Given the description of an element on the screen output the (x, y) to click on. 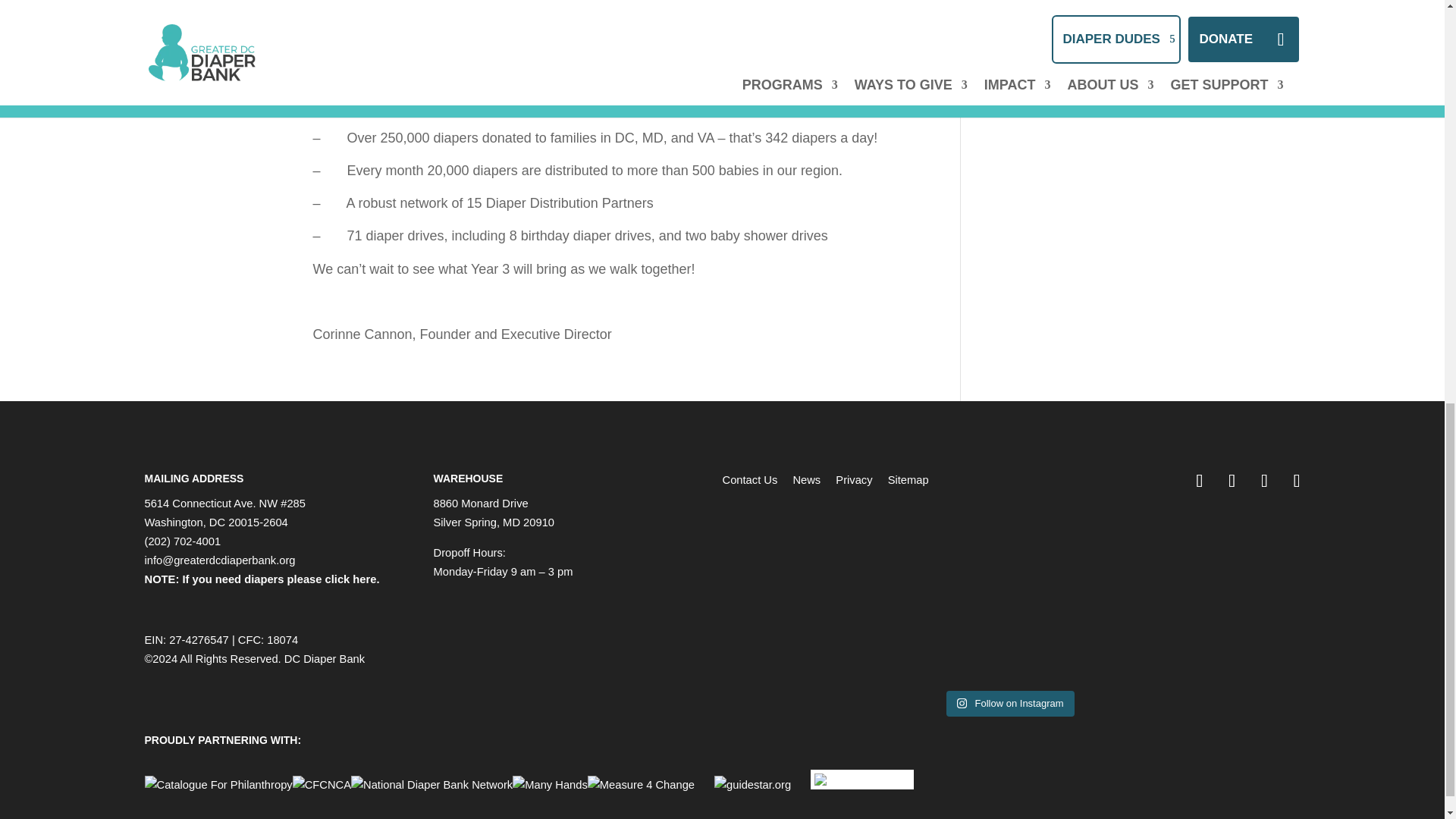
Privacy (853, 480)
News (806, 480)
Contact Us (749, 480)
please click here (331, 579)
